Given the description of an element on the screen output the (x, y) to click on. 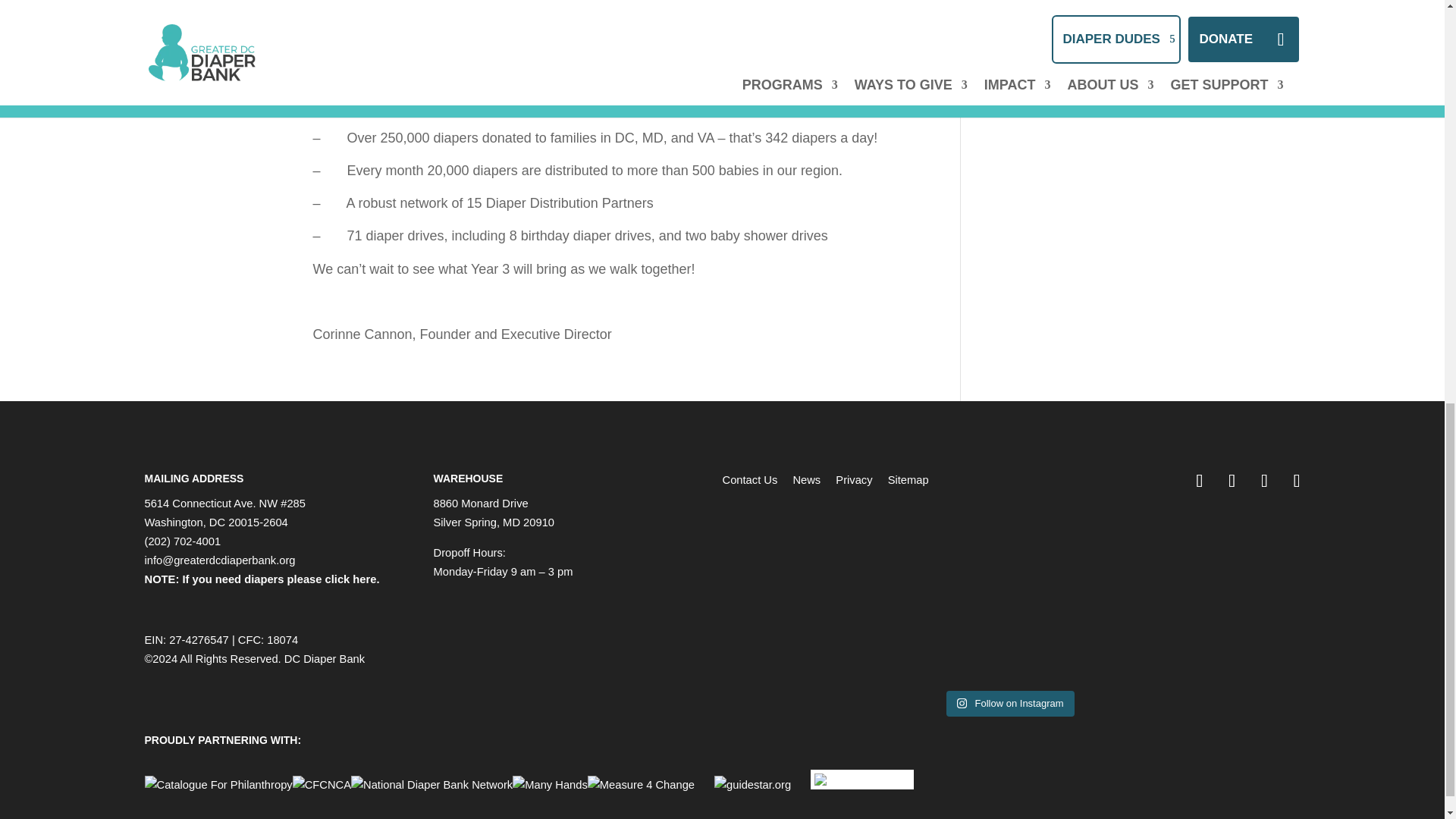
Privacy (853, 480)
News (806, 480)
Contact Us (749, 480)
please click here (331, 579)
